Given the description of an element on the screen output the (x, y) to click on. 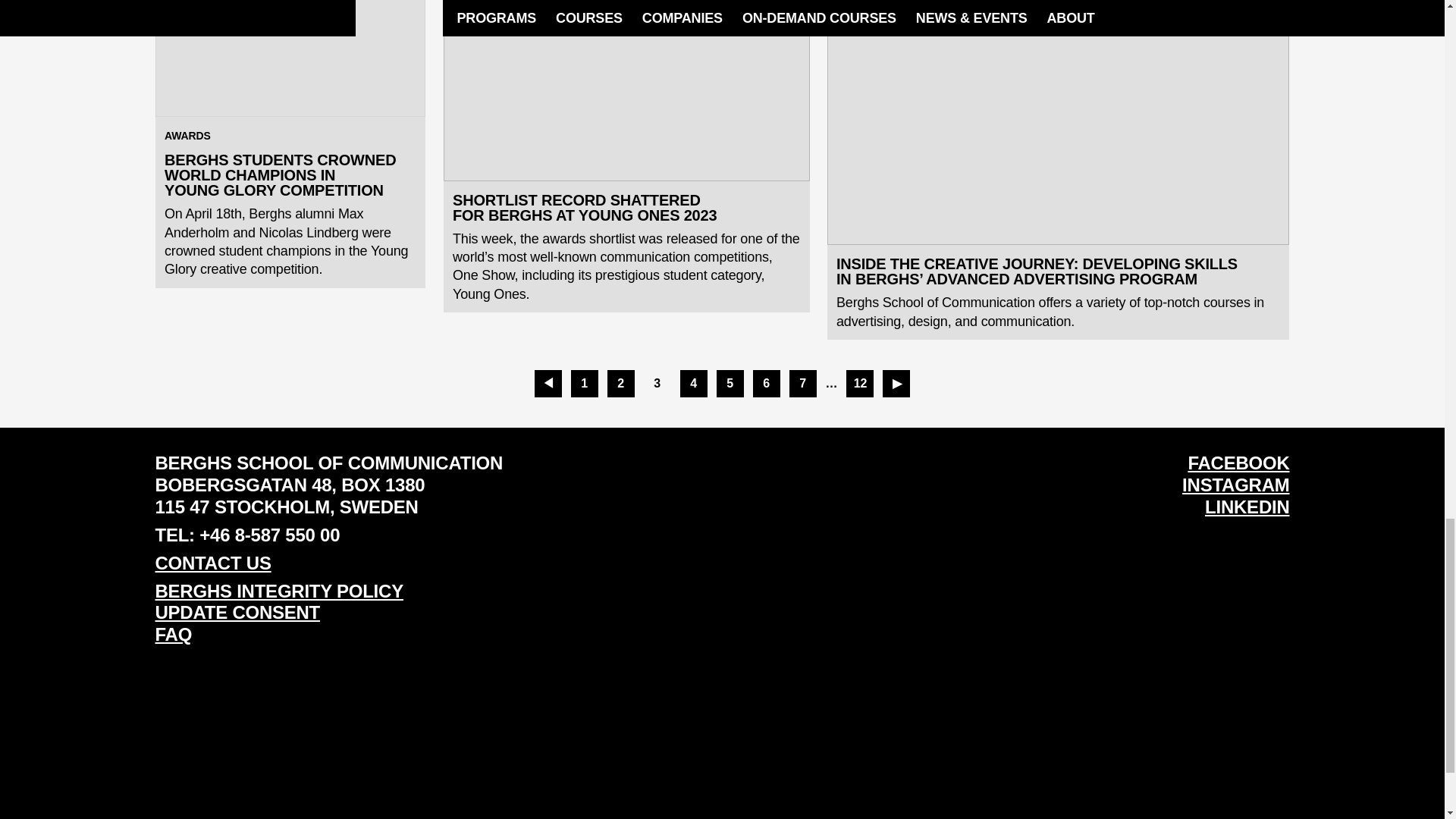
Page 4 (693, 383)
Page 7 (802, 383)
Page 12 (859, 383)
Page 5 (730, 383)
Page 1 (584, 383)
Page 6 (766, 383)
Next page (896, 383)
Page 2 (620, 383)
Page 3 (657, 383)
Previous page (548, 383)
